Given the description of an element on the screen output the (x, y) to click on. 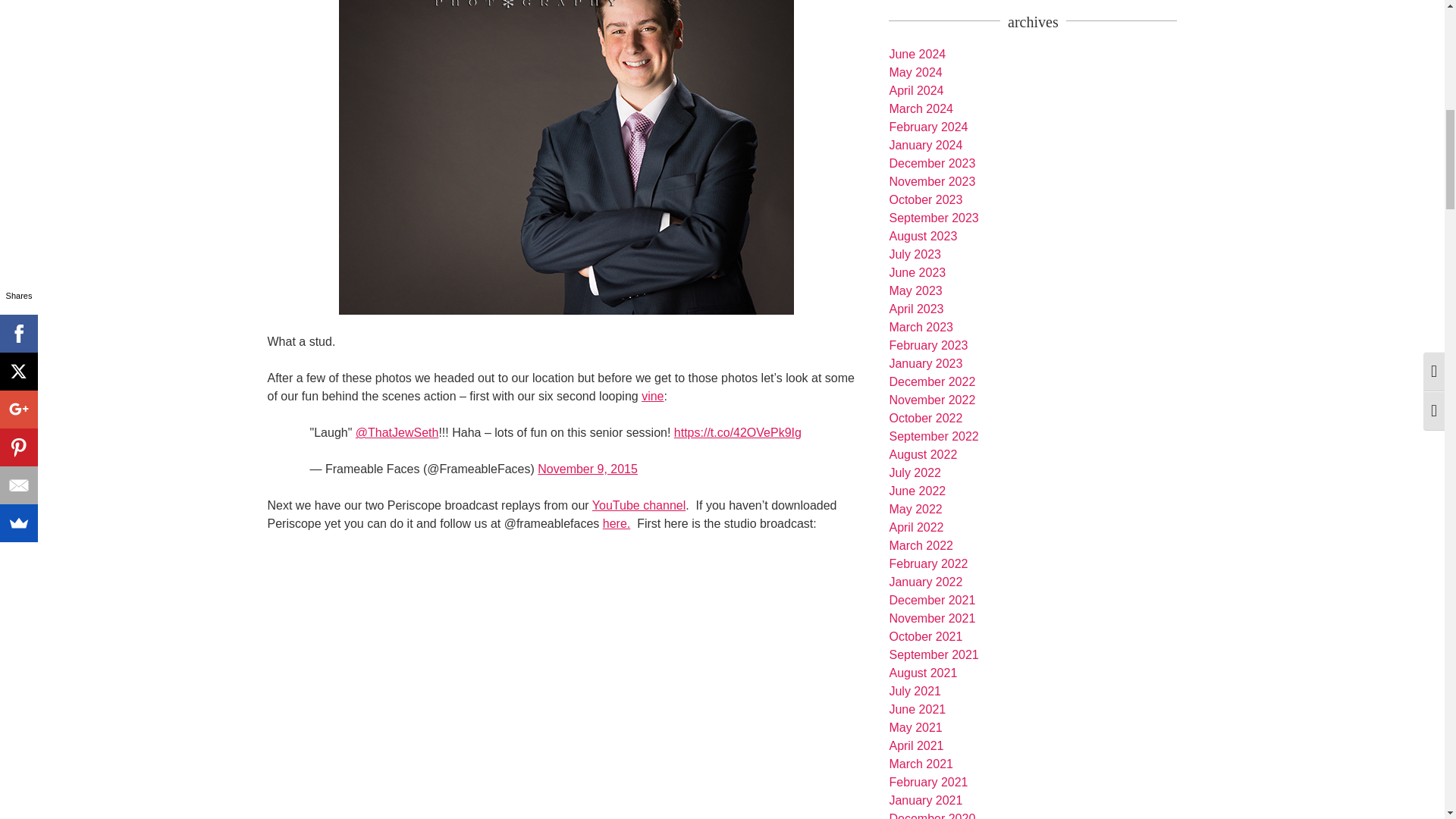
vine (652, 395)
